Given the description of an element on the screen output the (x, y) to click on. 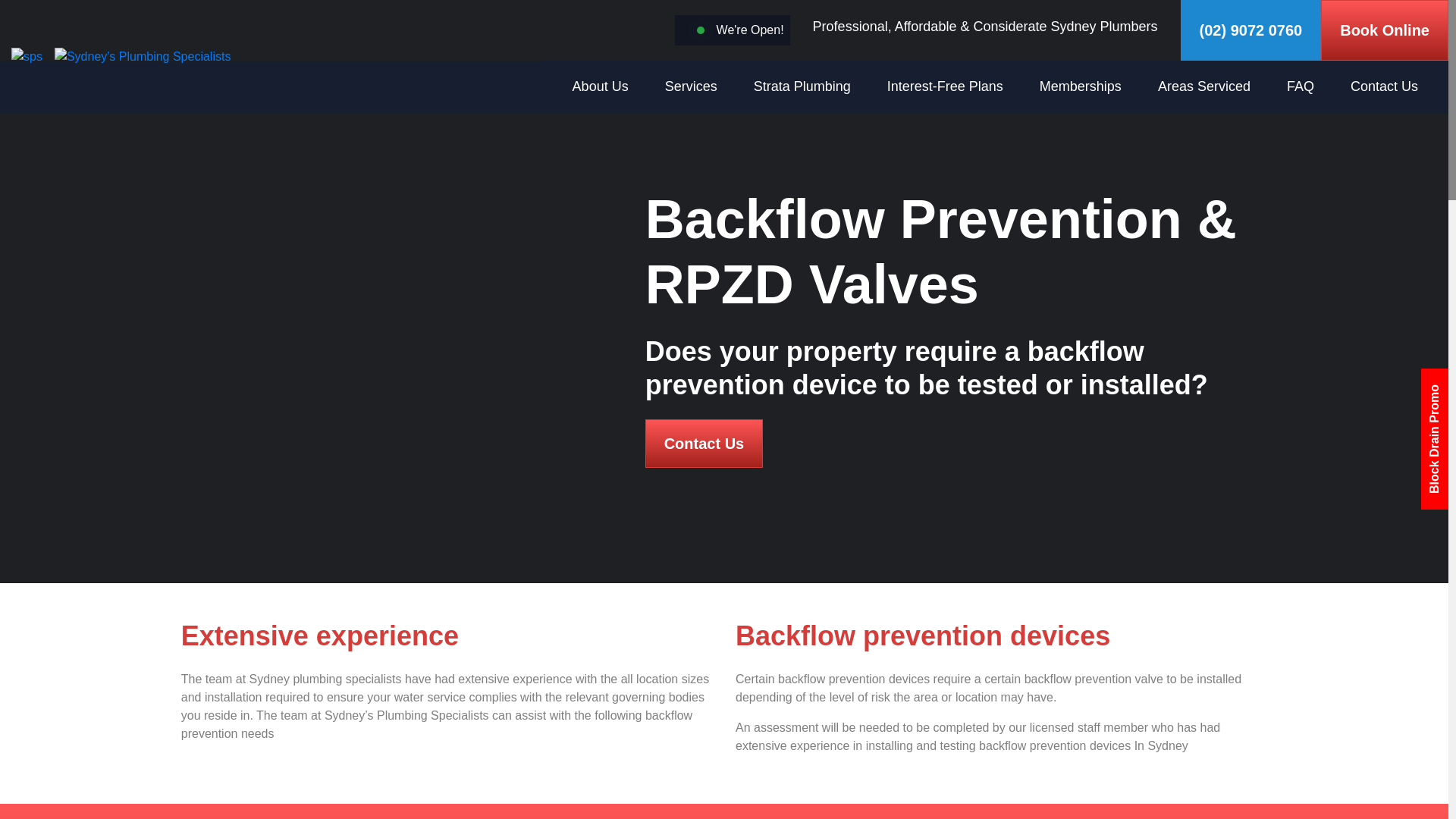
Memberships (1079, 86)
About Us (600, 86)
Contact Us (703, 443)
Areas Serviced (1203, 86)
Services (691, 86)
Strata Plumbing (802, 86)
FAQ (1300, 86)
SPS Plumbers - Sydney's Plumbing Specialists (120, 56)
Interest-Free Plans (944, 86)
Contact Us (1383, 86)
